Given the description of an element on the screen output the (x, y) to click on. 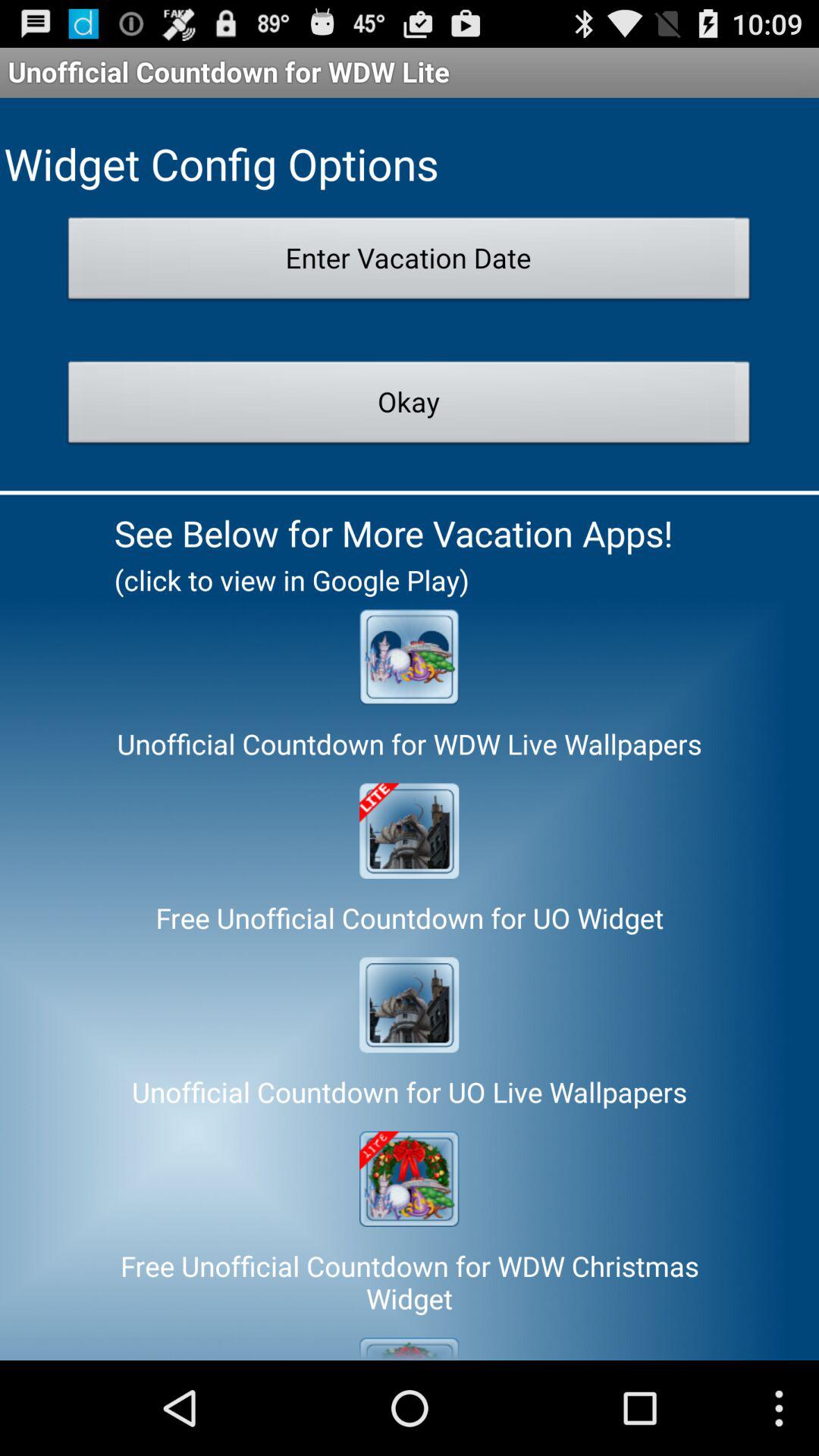
turn on the icon below the enter vacation date button (408, 406)
